Given the description of an element on the screen output the (x, y) to click on. 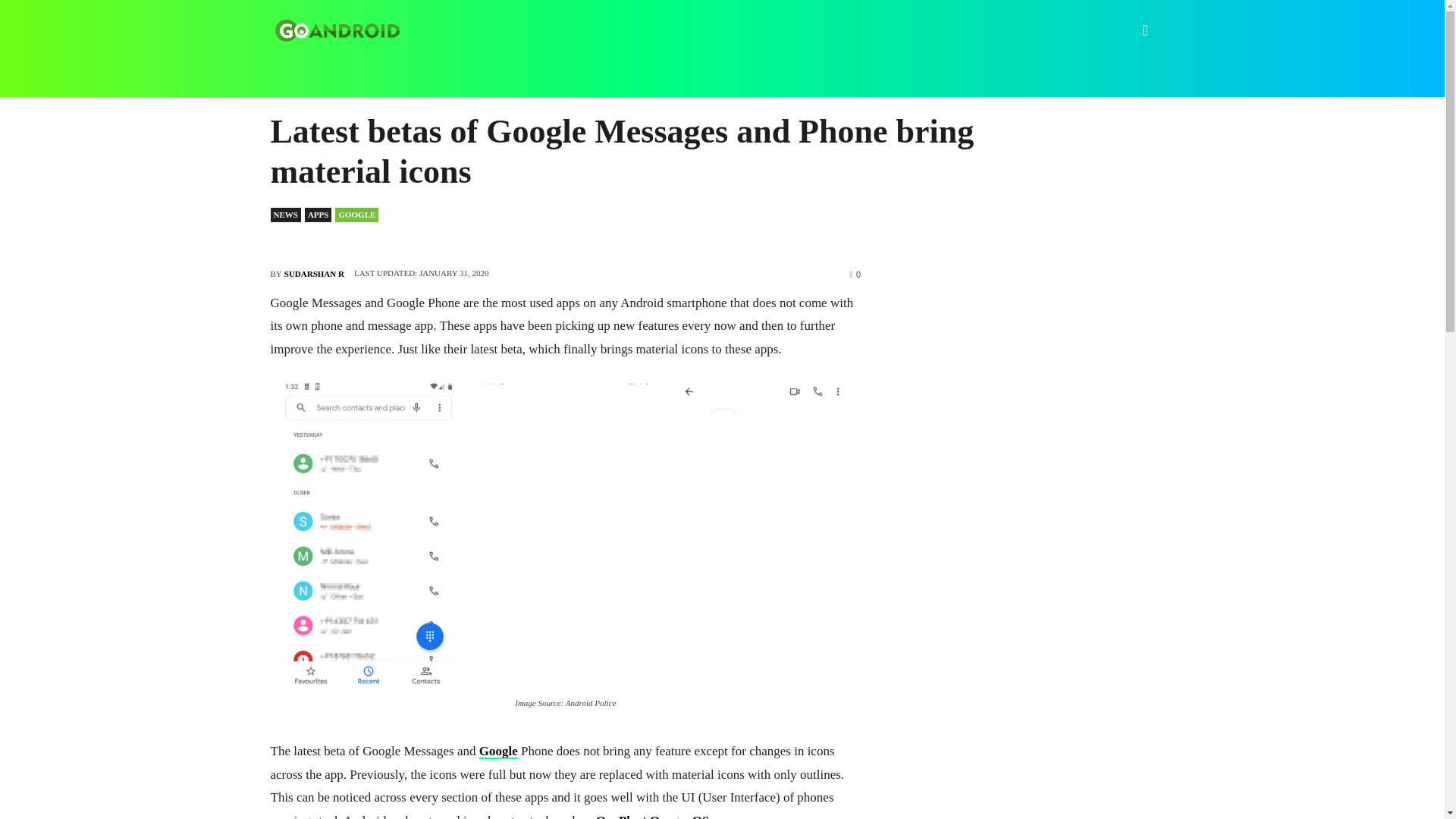
APPS (317, 214)
NEWS (284, 214)
GOOGLE (356, 214)
